Given the description of an element on the screen output the (x, y) to click on. 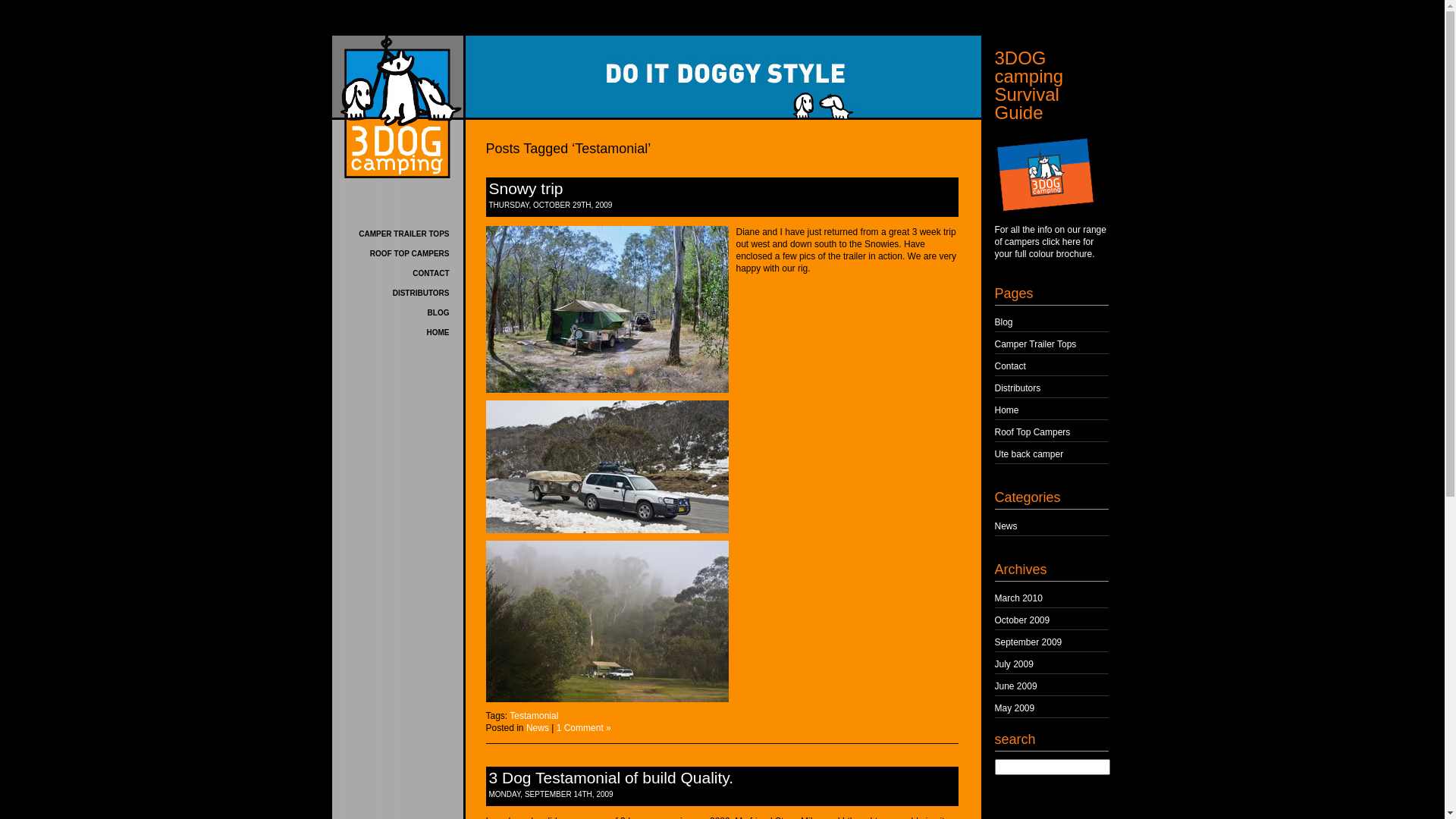
Snowy trip Element type: text (525, 188)
CAMPER TRAILER TOPS Element type: text (403, 233)
Distributors Element type: text (1017, 387)
September 2009 Element type: text (1028, 642)
March 2010 Element type: text (1018, 598)
Home Element type: text (1006, 409)
ROOF TOP CAMPERS Element type: text (409, 253)
Testamonial Element type: text (533, 715)
CONTACT Element type: text (430, 273)
October 2009 Element type: text (1022, 620)
News Element type: text (1005, 525)
DISTRIBUTORS Element type: text (420, 292)
Blog Element type: text (1003, 321)
July 2009 Element type: text (1013, 663)
May 2009 Element type: text (1014, 707)
June 2009 Element type: text (1015, 685)
HOME Element type: text (437, 332)
3 Dog Testamonial of build Quality. Element type: text (610, 777)
Camper Trailer Tops Element type: text (1035, 343)
3 Dog Camping Element type: text (397, 106)
Ute back camper Element type: text (1028, 453)
BLOG Element type: text (438, 312)
Roof Top Campers Element type: text (1032, 431)
News Element type: text (537, 727)
Contact Element type: text (1010, 365)
